Given the description of an element on the screen output the (x, y) to click on. 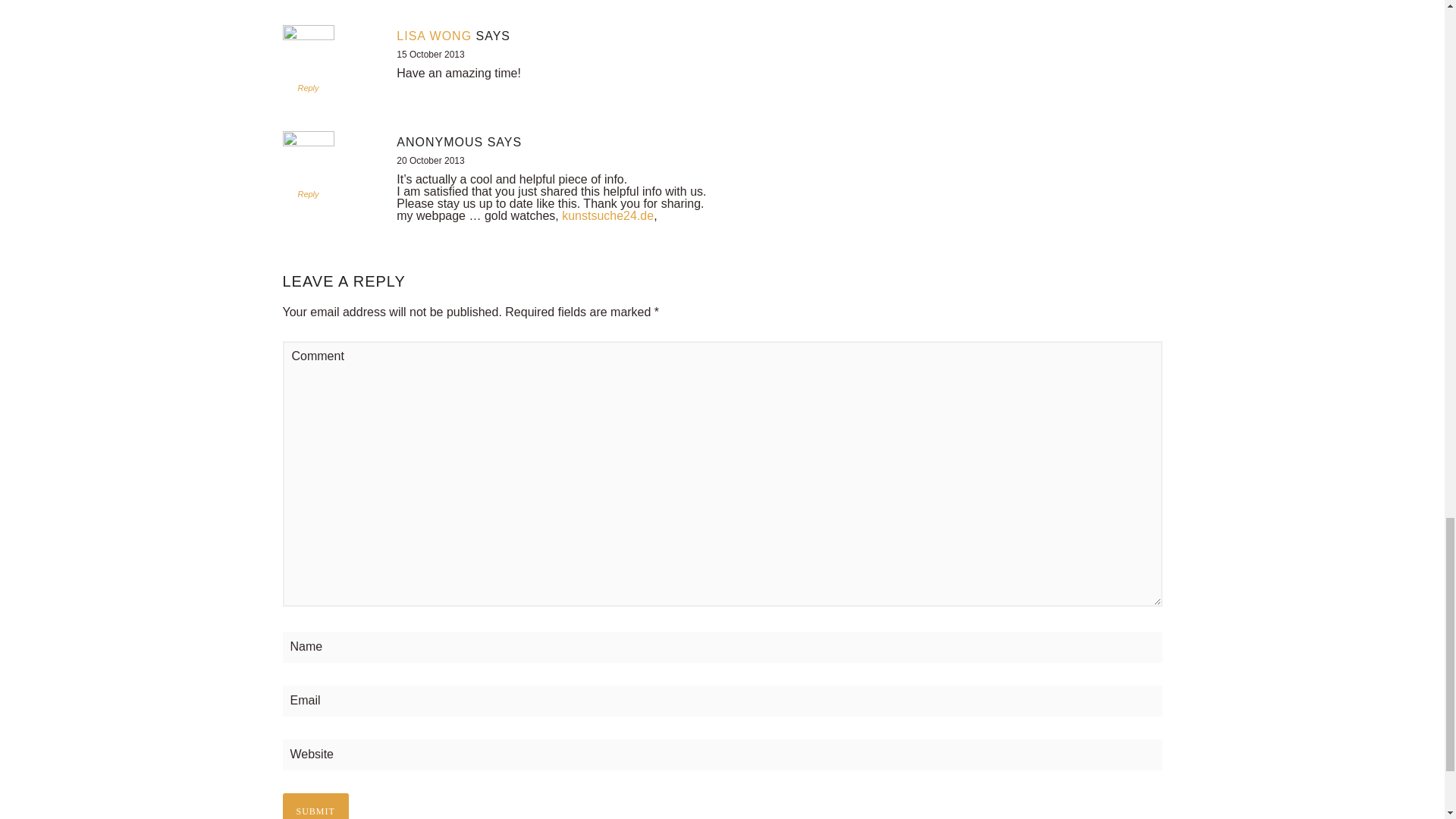
Reply (307, 87)
Submit (314, 806)
LISA WONG (433, 35)
kunstsuche24.de (607, 215)
Reply (307, 194)
Submit (314, 806)
